Given the description of an element on the screen output the (x, y) to click on. 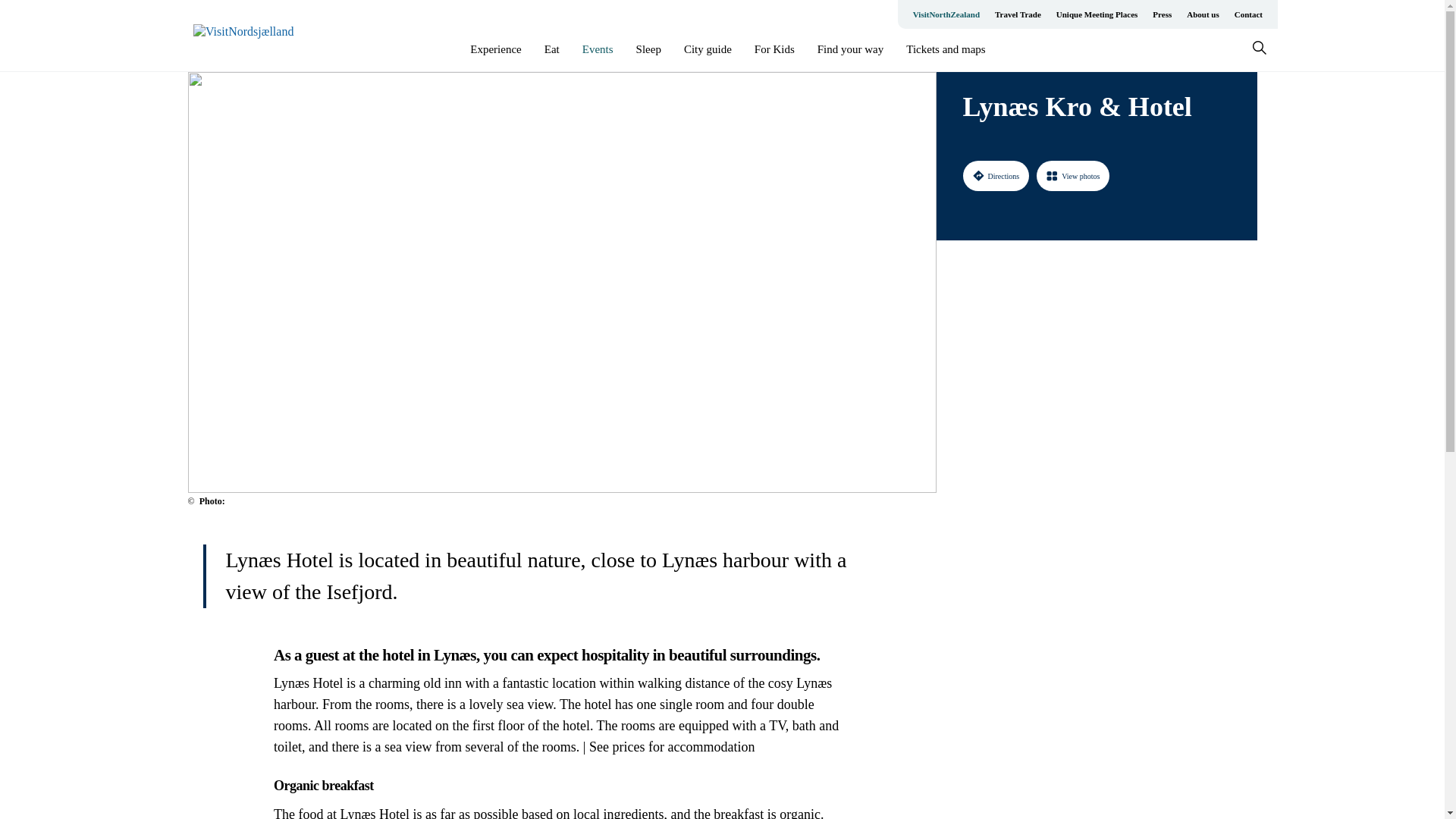
Tickets and maps (945, 49)
Events (597, 49)
For Kids (774, 49)
City guide (708, 49)
About us (1203, 14)
VisitNorthZealand (946, 14)
Unique Meeting Places (1096, 14)
Contact (1248, 14)
Directions (995, 175)
Go to homepage (253, 35)
Press (1161, 14)
Sleep (648, 49)
Find your way (849, 49)
Eat (551, 49)
Experience (495, 49)
